Given the description of an element on the screen output the (x, y) to click on. 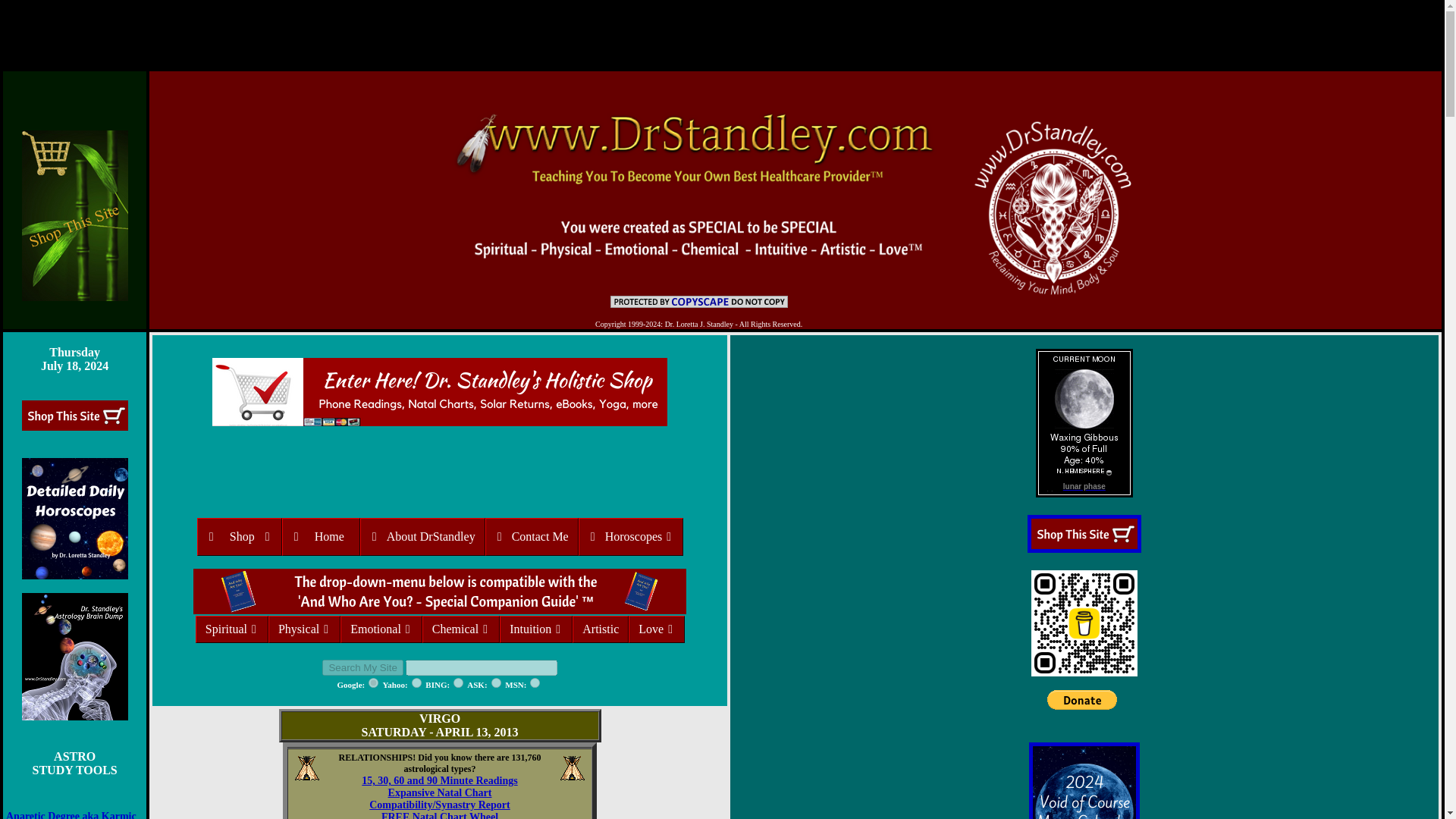
on (373, 682)
on (496, 682)
on (534, 682)
This will take you back to the home page (698, 183)
on (417, 682)
Protected by Copyscape - Do not copy content from this page (698, 301)
on (457, 682)
Search My Site (362, 667)
Advertisement (721, 33)
Anaretic Degree aka Karmic Degree aka 29th Degree (70, 814)
